Given the description of an element on the screen output the (x, y) to click on. 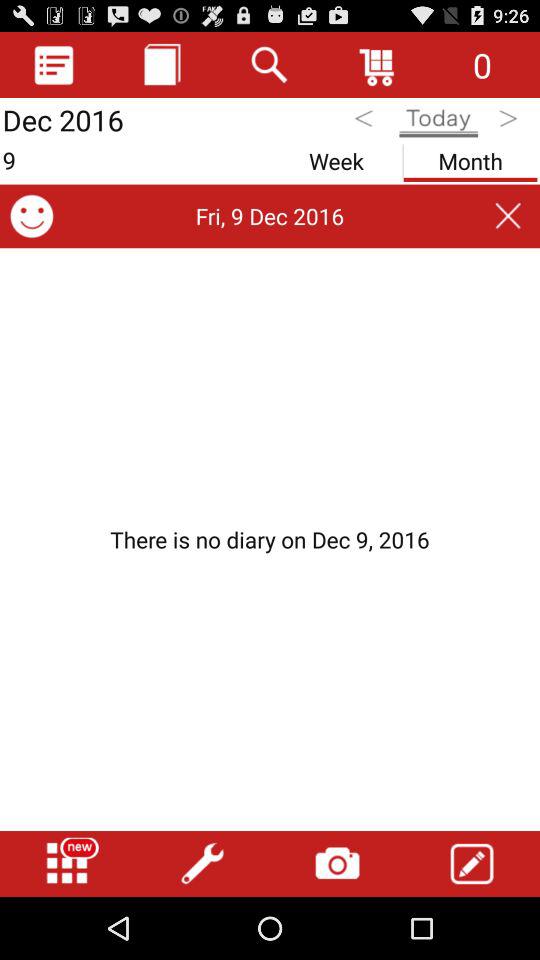
press app below the 0 (510, 121)
